Given the description of an element on the screen output the (x, y) to click on. 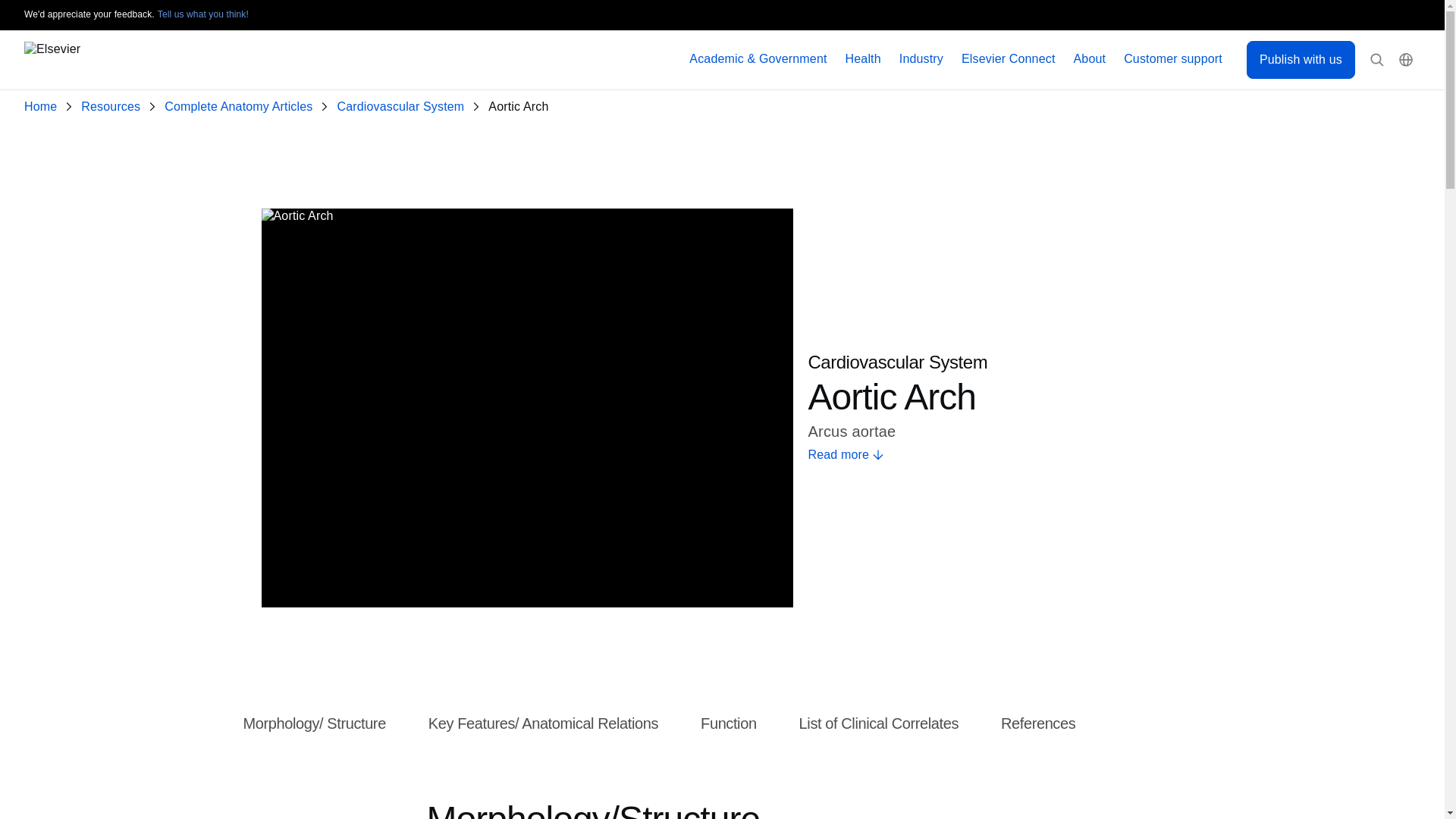
Resources (114, 107)
References (1038, 724)
Cardiovascular System (403, 107)
Customer support (1173, 59)
Location Selector (1406, 59)
Health (862, 59)
About (1090, 59)
Read more (995, 455)
Function (728, 724)
Elsevier Connect (1007, 59)
Complete Anatomy Articles (241, 107)
List of Clinical Correlates (878, 724)
Home (43, 107)
Publish with us (1300, 59)
Open Search (1376, 59)
